Given the description of an element on the screen output the (x, y) to click on. 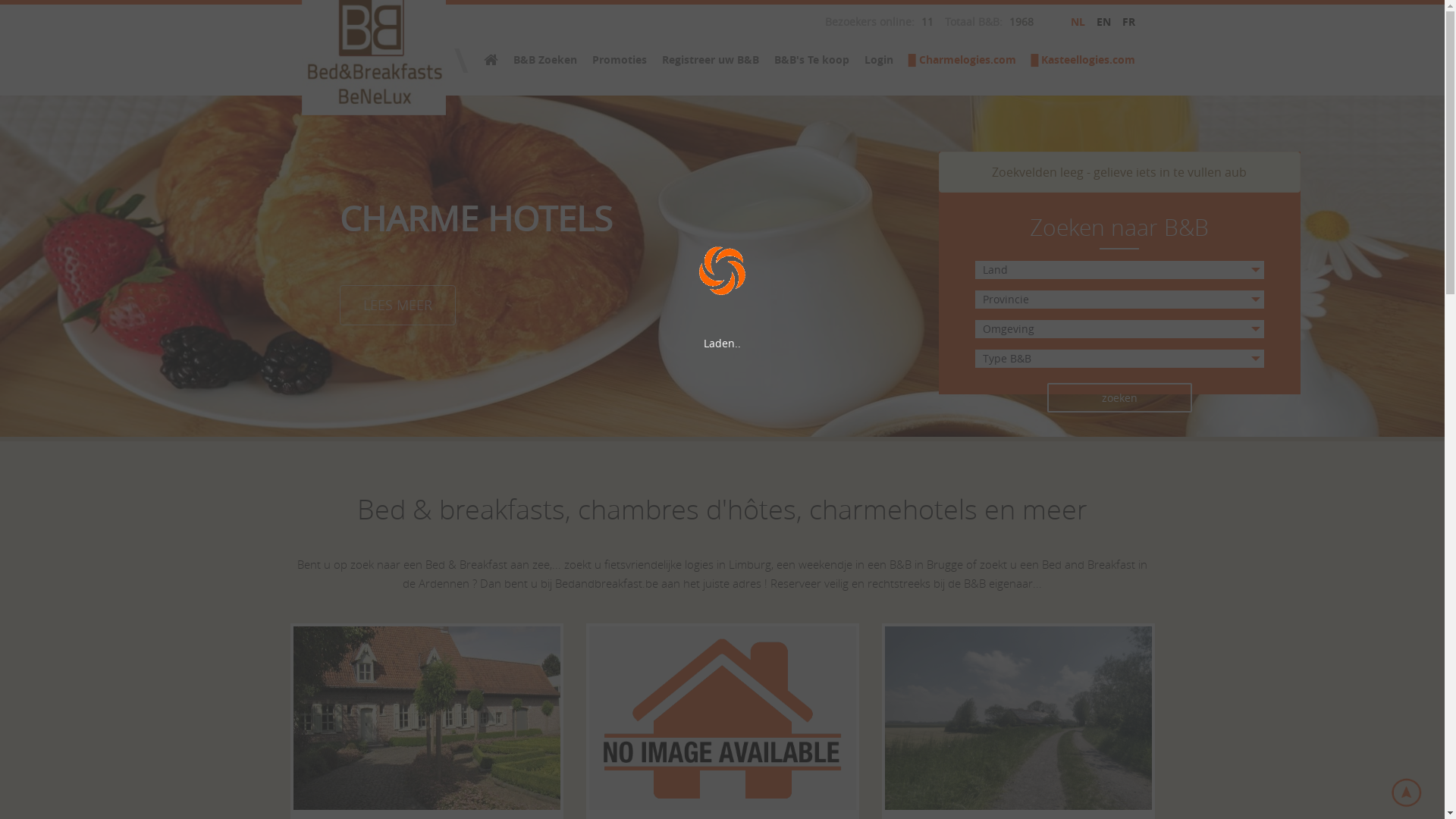
Scroll To Top Element type: hover (1406, 792)
B&B Dadivaro Element type: hover (425, 711)
Battre d'eau Element type: hover (1017, 711)
FR Element type: text (1128, 21)
Registreer uw B&B Element type: text (710, 59)
\ Element type: text (461, 59)
Bed & Breakfast Element type: hover (300, 23)
Kerkevelde Element type: hover (721, 711)
B&B Zoeken
(actueel) Element type: text (544, 59)
EN Element type: text (1103, 21)
Promoties Element type: text (619, 59)
B&B's Te koop Element type: text (811, 59)
Login Element type: text (878, 59)
Bed & Breakfast Element type: hover (490, 60)
NL Element type: text (1077, 21)
